Given the description of an element on the screen output the (x, y) to click on. 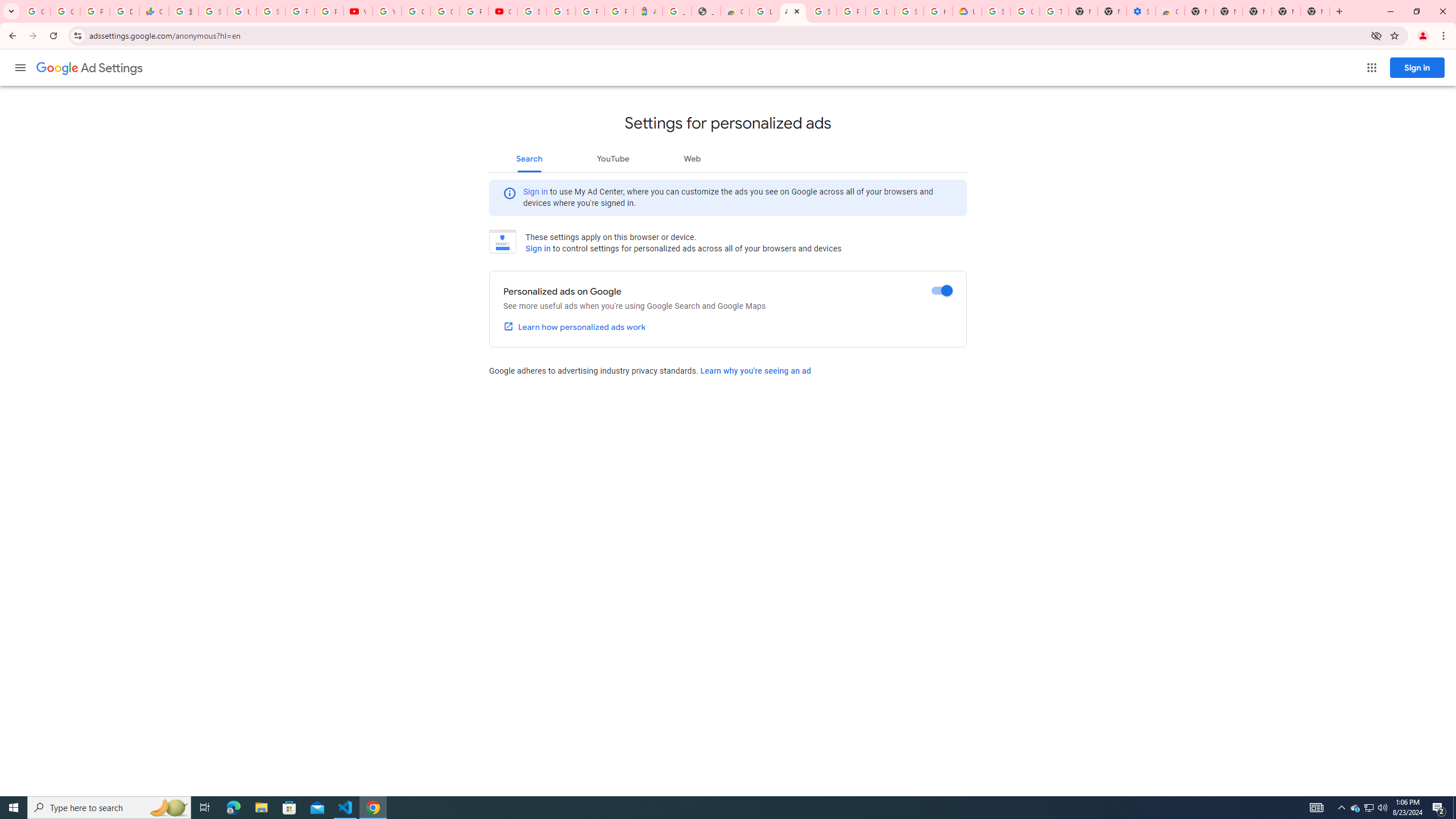
Ad Settings (89, 68)
Sign in - Google Accounts (560, 11)
Settings - Accessibility (1140, 11)
Learn why you're seeing an ad (755, 370)
Sign in - Google Accounts (212, 11)
New Tab (1198, 11)
New Tab (1315, 11)
Sign in - Google Accounts (531, 11)
Sign in - Google Accounts (271, 11)
Google Account Help (1025, 11)
